Given the description of an element on the screen output the (x, y) to click on. 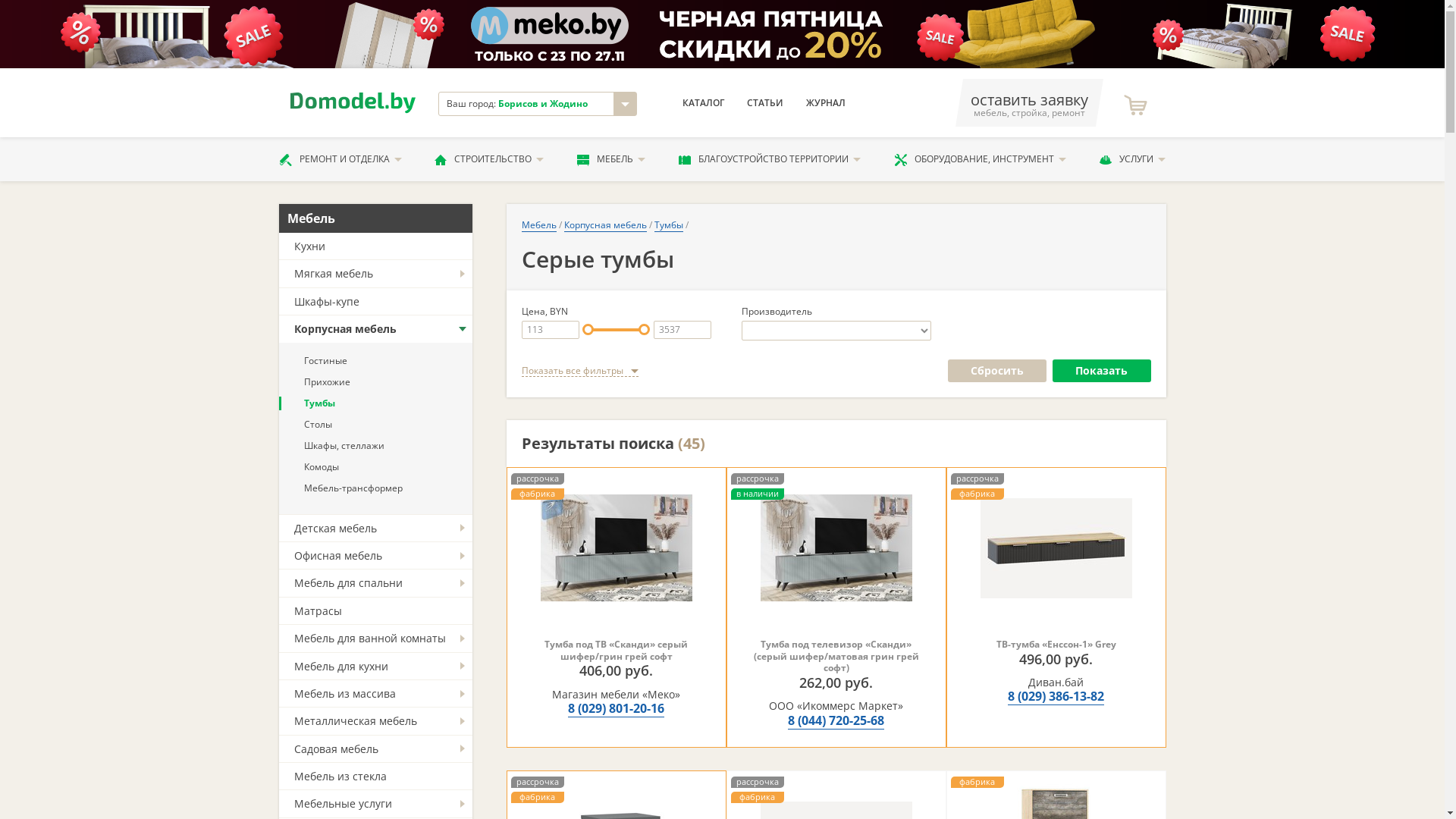
8 (029) 386-13-82 Element type: text (1055, 696)
8 (029) 801-20-16 Element type: text (615, 708)
8 (044) 720-25-68 Element type: text (835, 720)
